Given the description of an element on the screen output the (x, y) to click on. 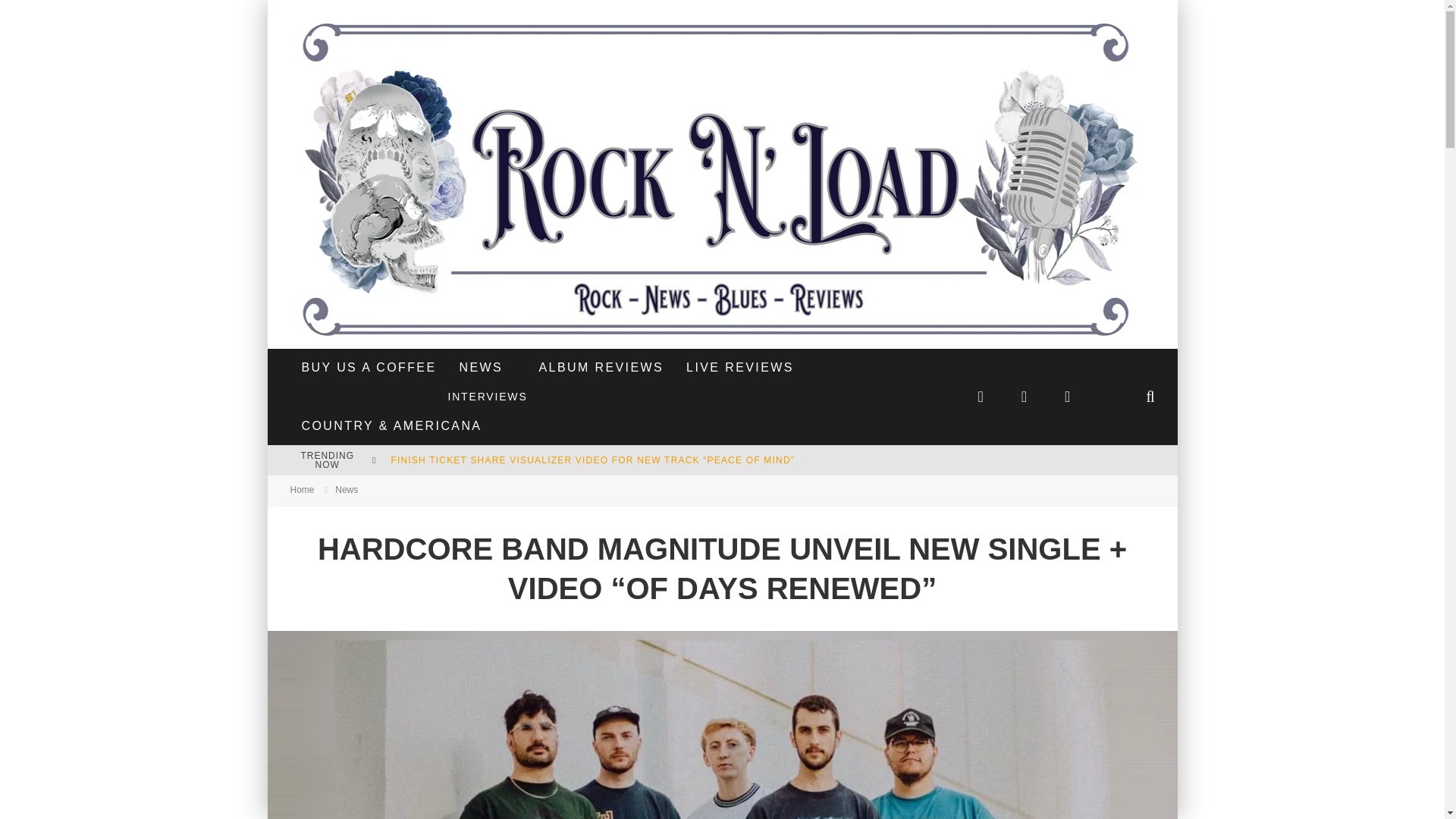
News (346, 489)
NEWS (479, 367)
BUY US A COFFEE (367, 367)
INTERVIEWS (486, 396)
LIVE REVIEWS (740, 367)
ALBUM REVIEWS (601, 367)
Home (301, 489)
